Given the description of an element on the screen output the (x, y) to click on. 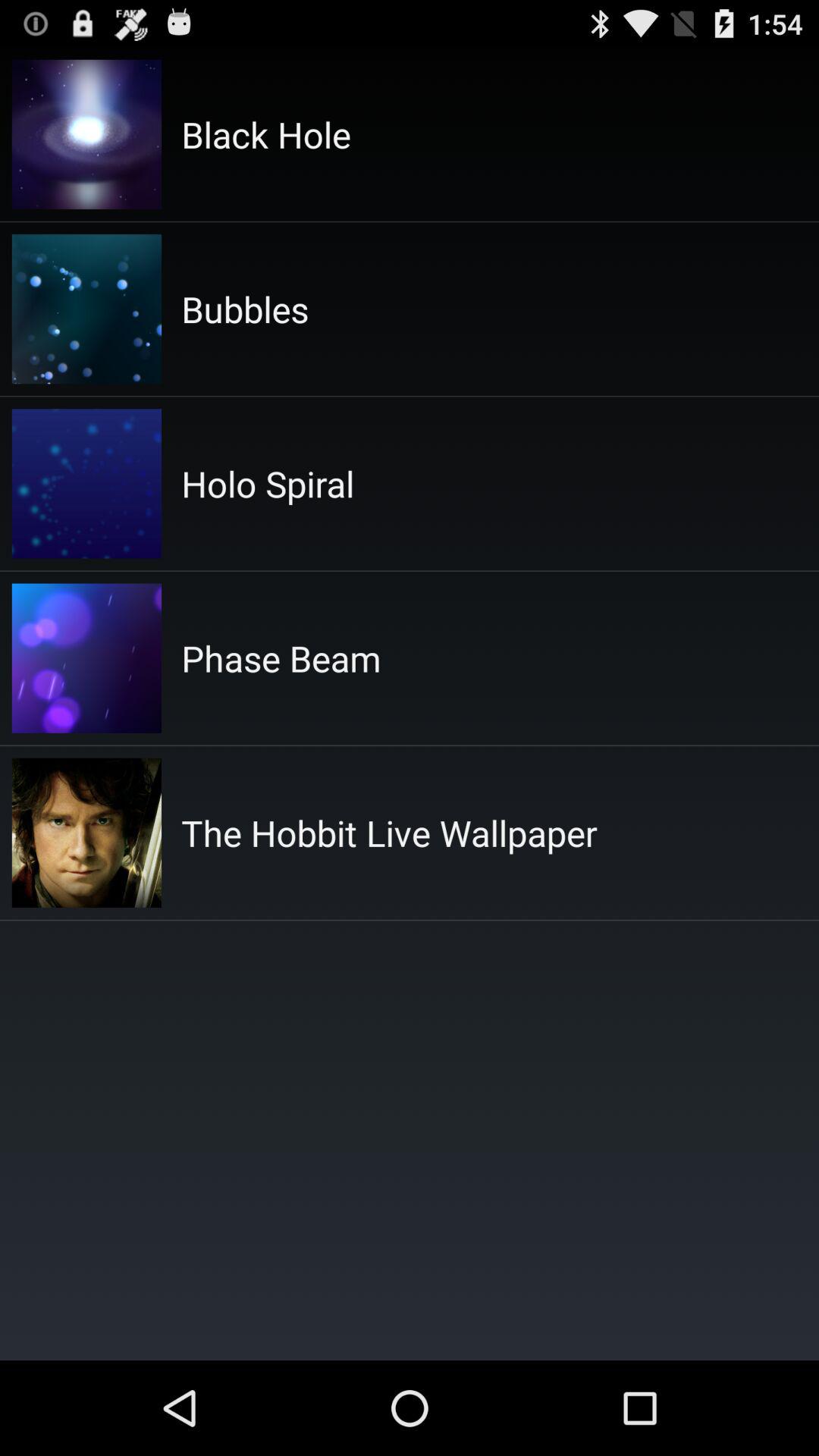
click the phase beam icon (281, 658)
